Given the description of an element on the screen output the (x, y) to click on. 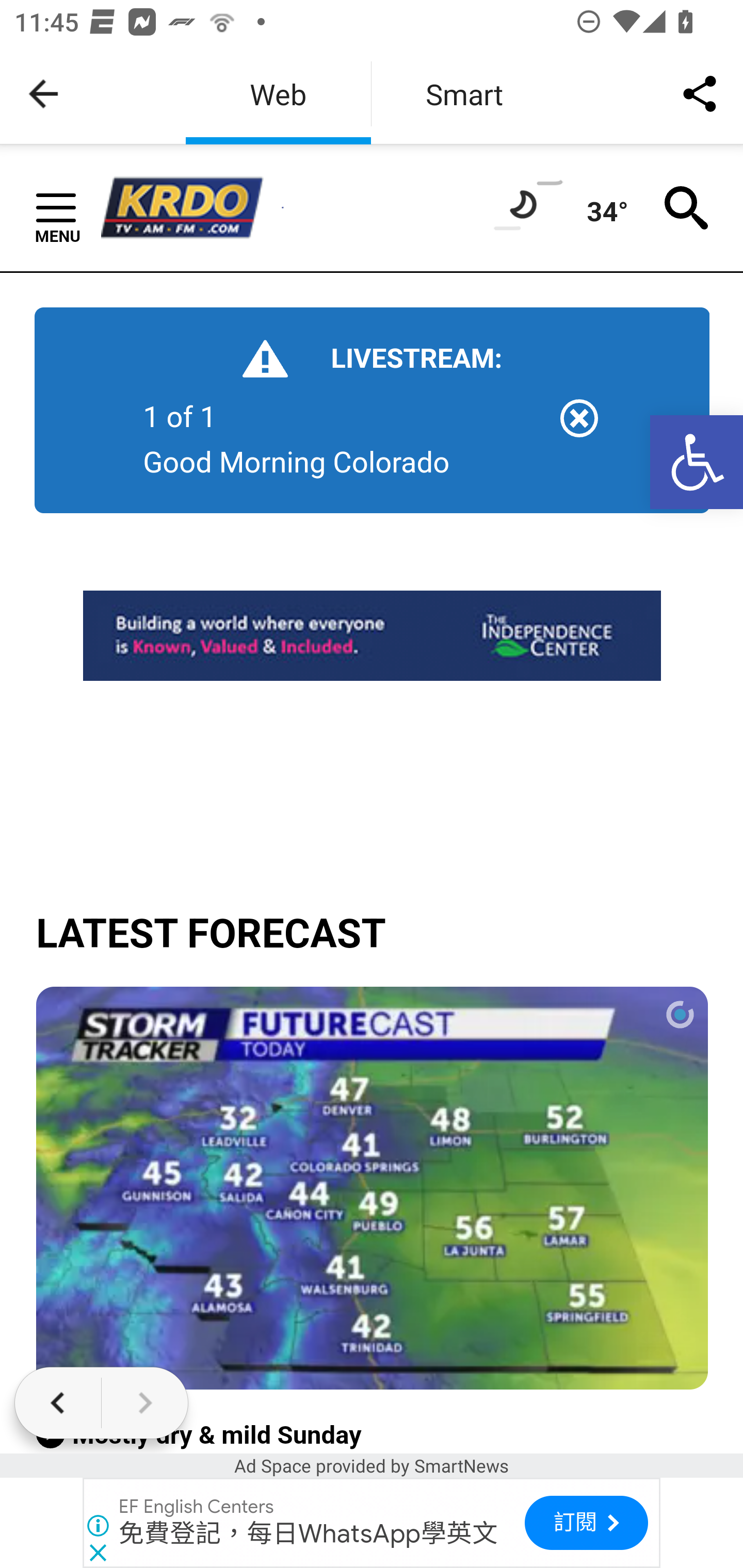
Web (277, 93)
Smart (464, 93)
KRDO  KRDO   (191, 208)
# search (686, 206)
LATEST FORECAST (372, 933)
Optimized by minute.ly (372, 1189)
Optimized by minute.ly (679, 1015)
EF English Centers (196, 1507)
訂閱 (586, 1522)
免費登記，每日WhatsApp學英文 (308, 1533)
